Given the description of an element on the screen output the (x, y) to click on. 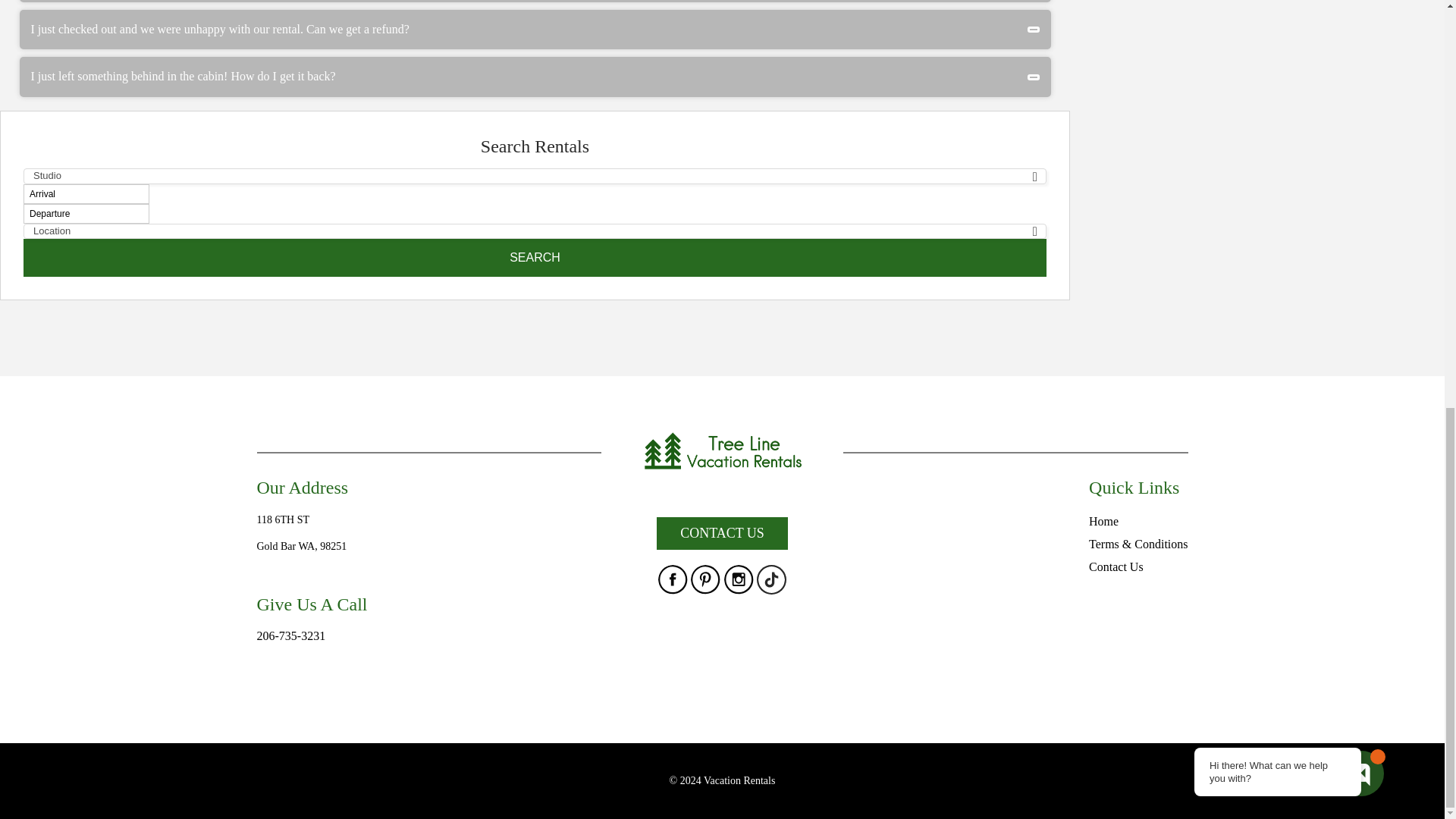
CONTACT US (721, 532)
SEARCH (534, 257)
206-735-3231 (290, 635)
